Given the description of an element on the screen output the (x, y) to click on. 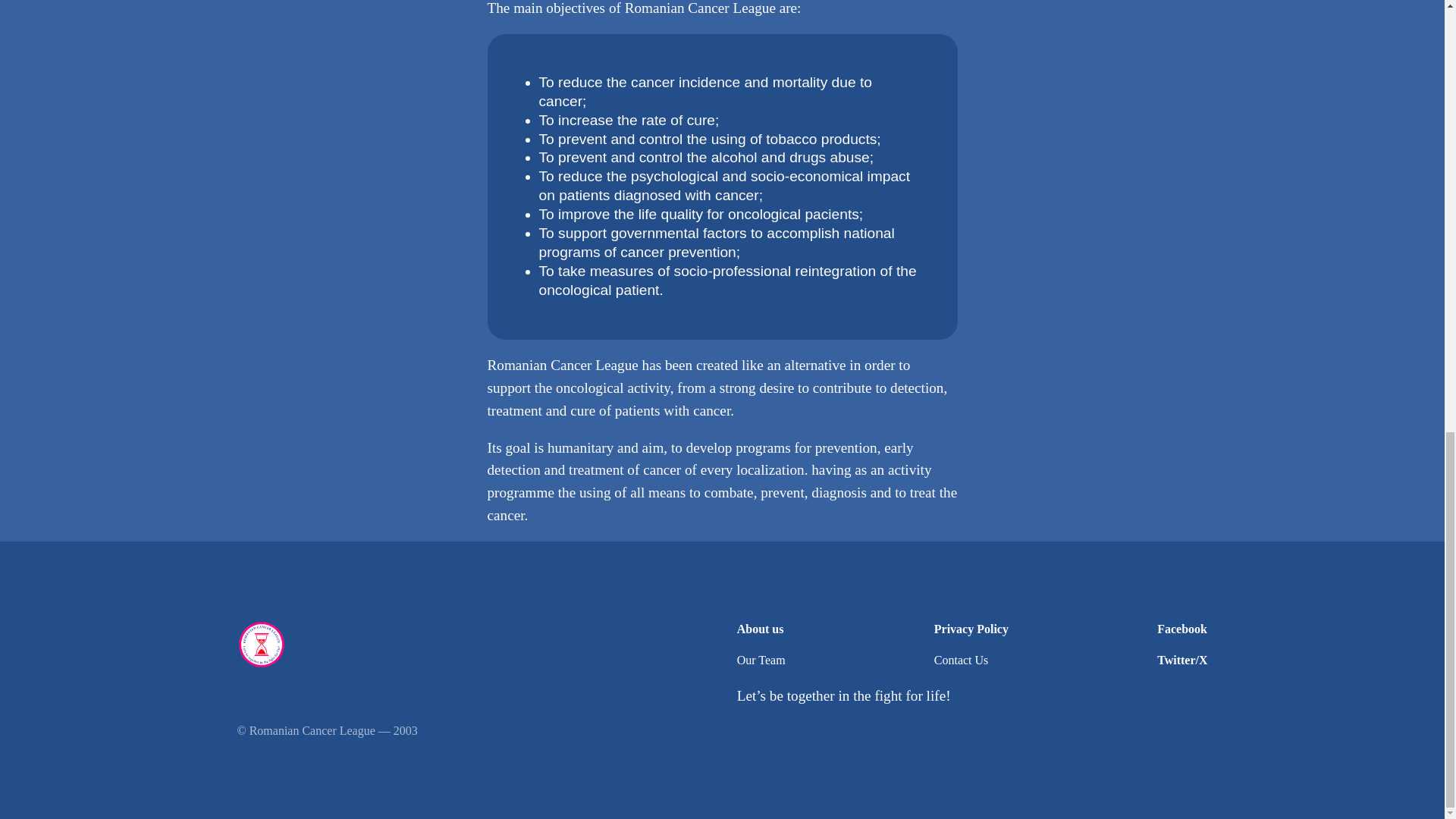
Contact Us (961, 660)
Privacy Policy (971, 629)
Facebook (1182, 629)
About us (760, 629)
Our Team (761, 660)
